Given the description of an element on the screen output the (x, y) to click on. 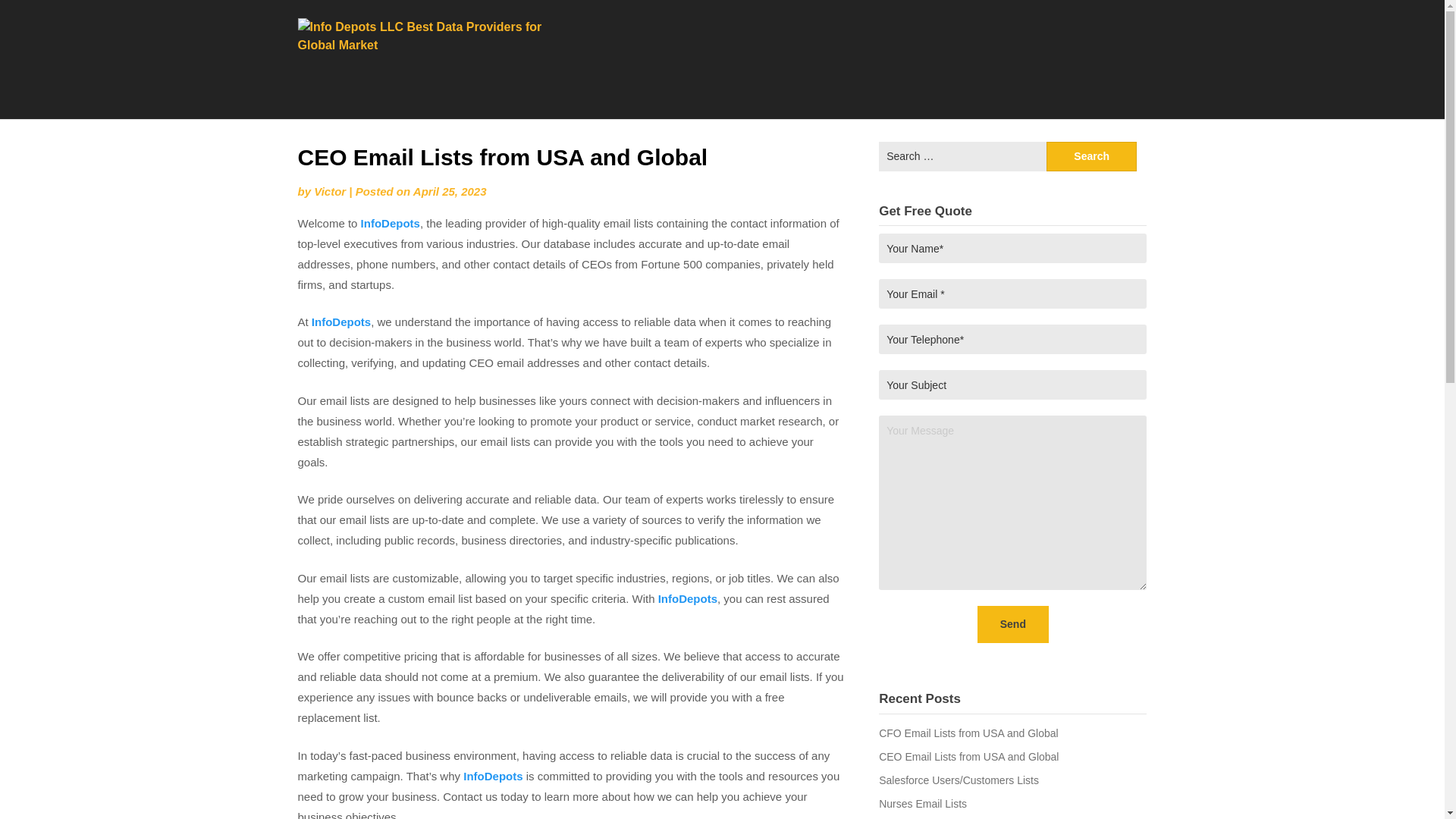
April 25, 2023 (449, 191)
Send (1012, 624)
InfoDepots (687, 598)
Search (1091, 156)
CFO Email Lists from USA and Global (968, 733)
Victor (330, 191)
Search (1091, 156)
InfoDepots (390, 223)
CEO Email Lists from USA and Global (968, 756)
Search (1091, 156)
